Given the description of an element on the screen output the (x, y) to click on. 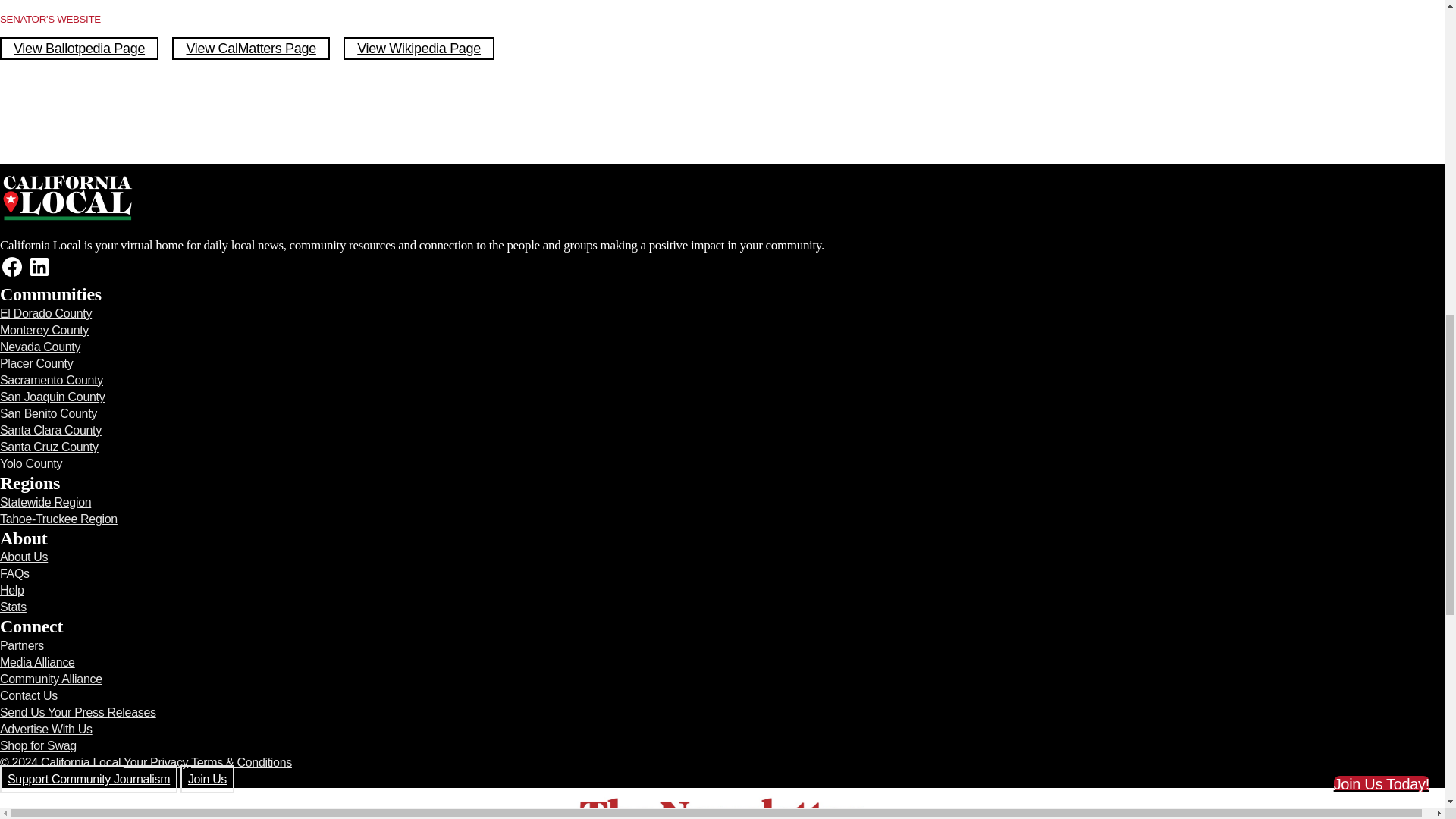
Monterey County (44, 329)
View Ballotpedia Page (79, 47)
SENATOR'S WEBSITE (50, 19)
The Newsletter (722, 803)
Nevada County (40, 346)
View Wikipedia Page (419, 47)
El Dorado County (45, 313)
Sacramento County (51, 379)
View CalMatters Page (250, 47)
Placer County (36, 363)
